Given the description of an element on the screen output the (x, y) to click on. 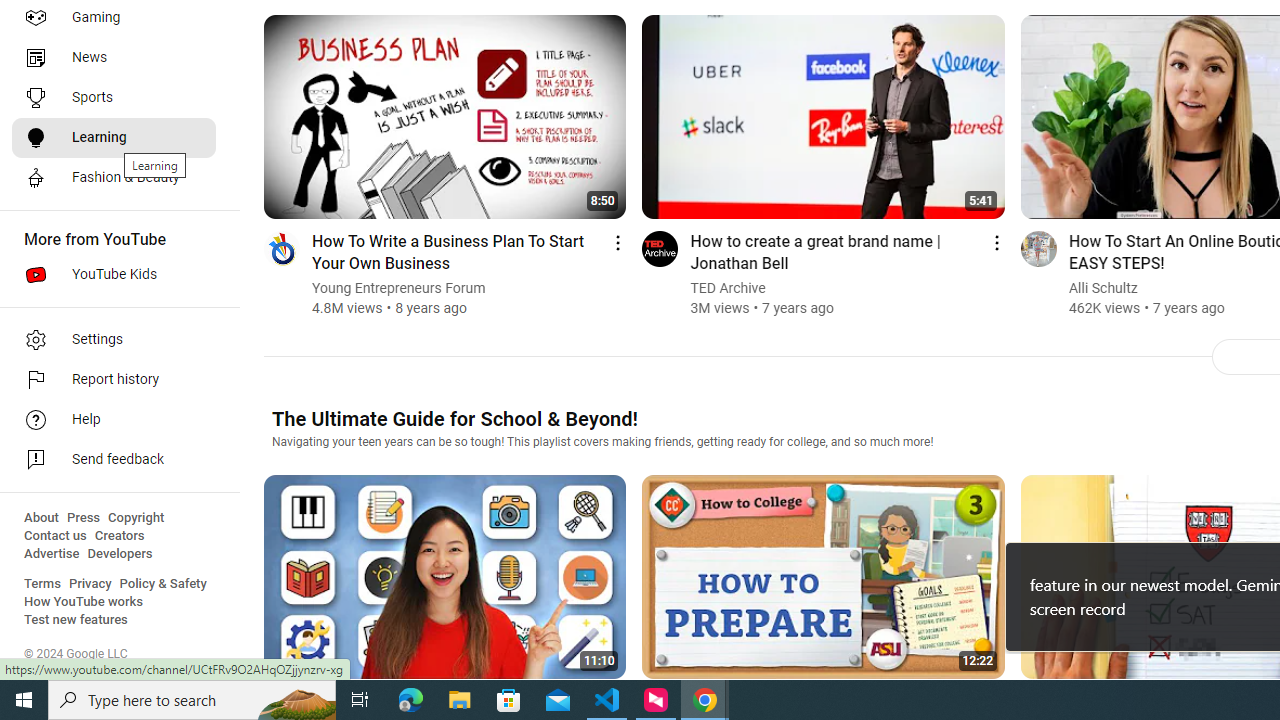
Press (83, 518)
Send feedback (113, 459)
Fashion & Beauty (113, 177)
Developers (120, 554)
Contact us (55, 536)
About (41, 518)
YouTube Kids (113, 274)
Young Entrepreneurs Forum (399, 287)
Report history (113, 380)
Settings (113, 339)
TED Archive (728, 287)
Creators (118, 536)
